Given the description of an element on the screen output the (x, y) to click on. 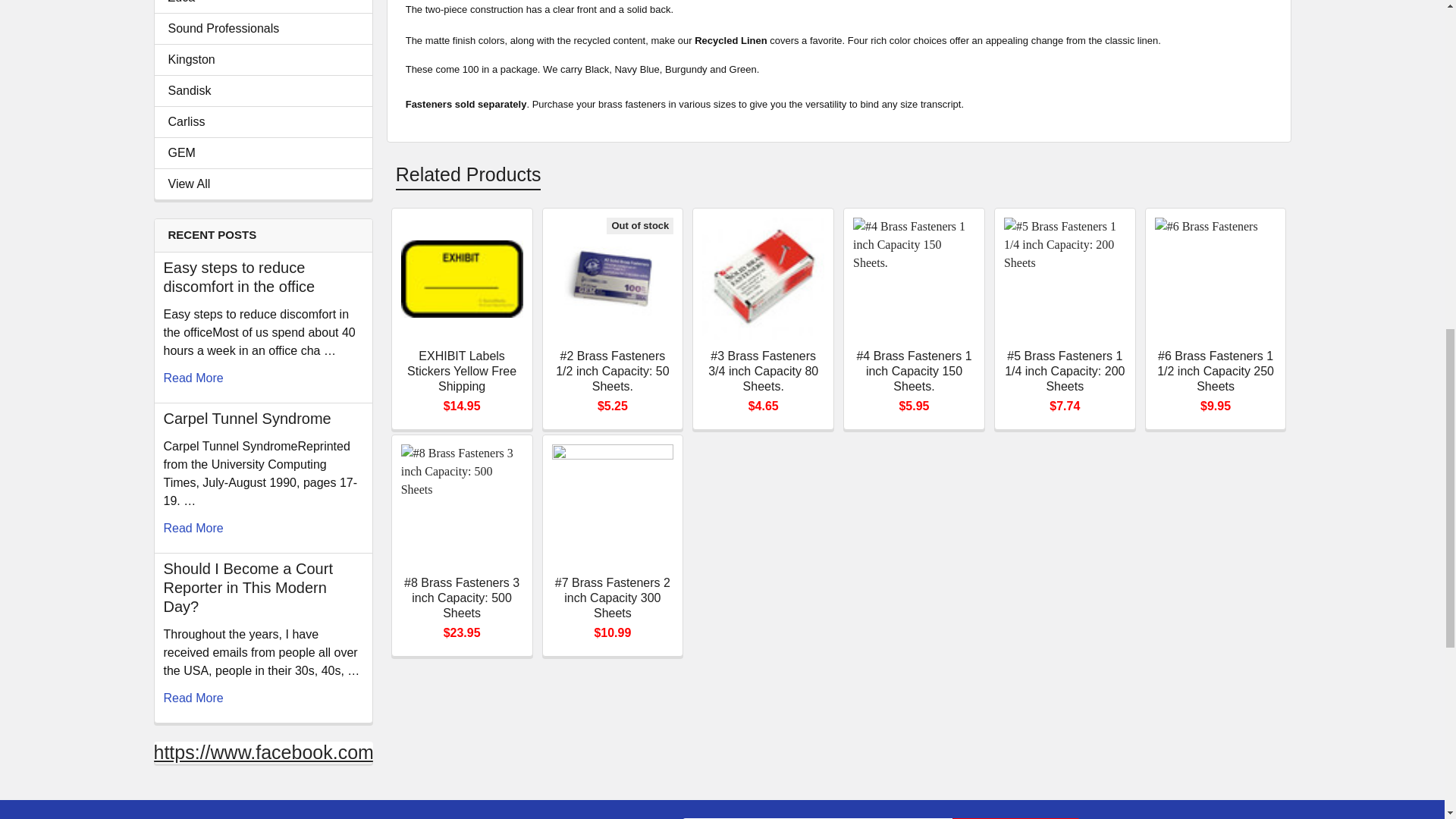
EXHIBIT Labels Stickers Yellow (461, 279)
Sandisk (263, 90)
Subscribe (1016, 818)
Zuca (263, 3)
Sound Professionals (263, 28)
GEM (263, 153)
Kingston (263, 59)
Carliss (263, 122)
